Given the description of an element on the screen output the (x, y) to click on. 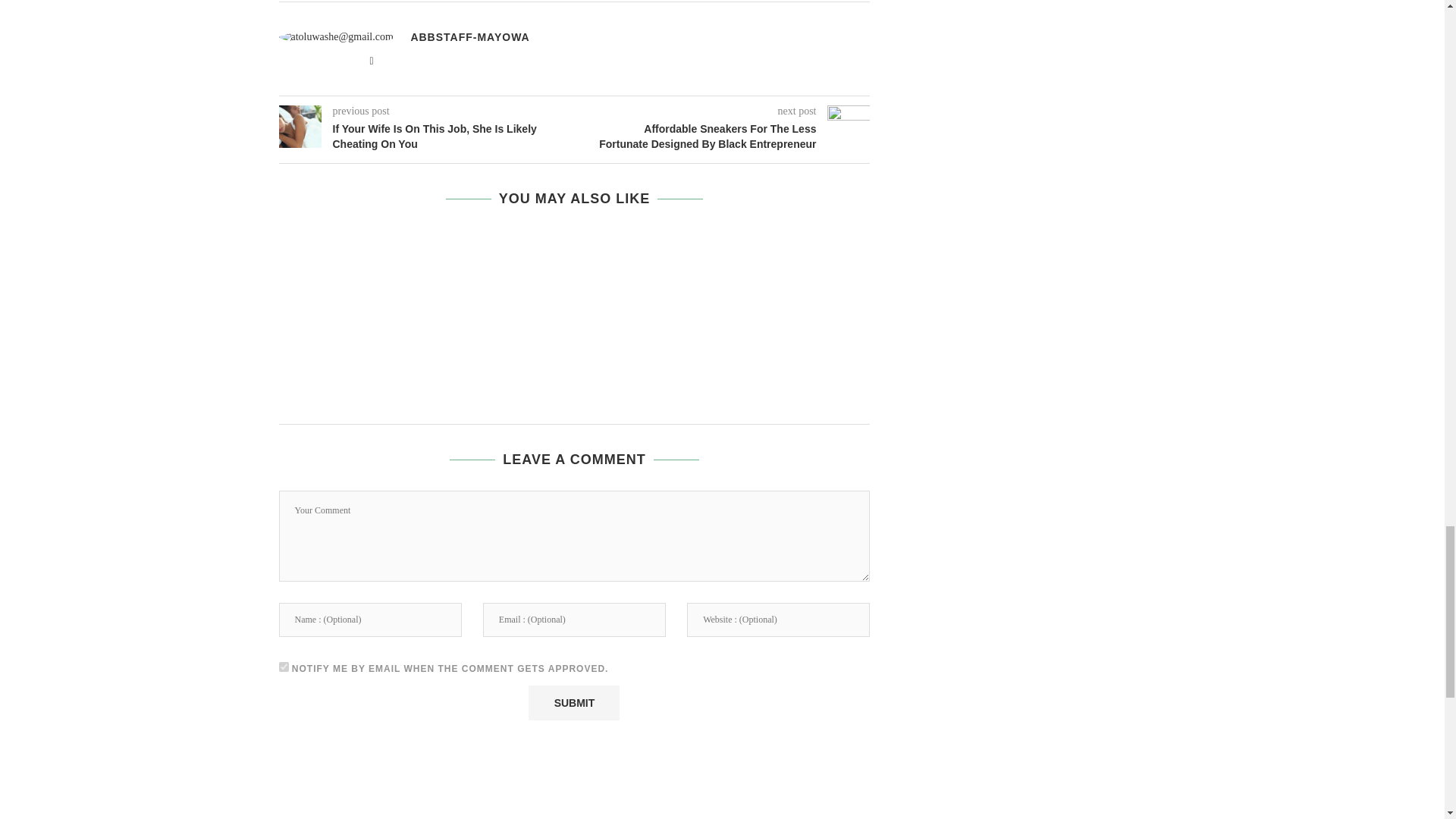
Posts by ABBStaff-Mayowa (469, 37)
Submit (574, 702)
1 (283, 666)
